Given the description of an element on the screen output the (x, y) to click on. 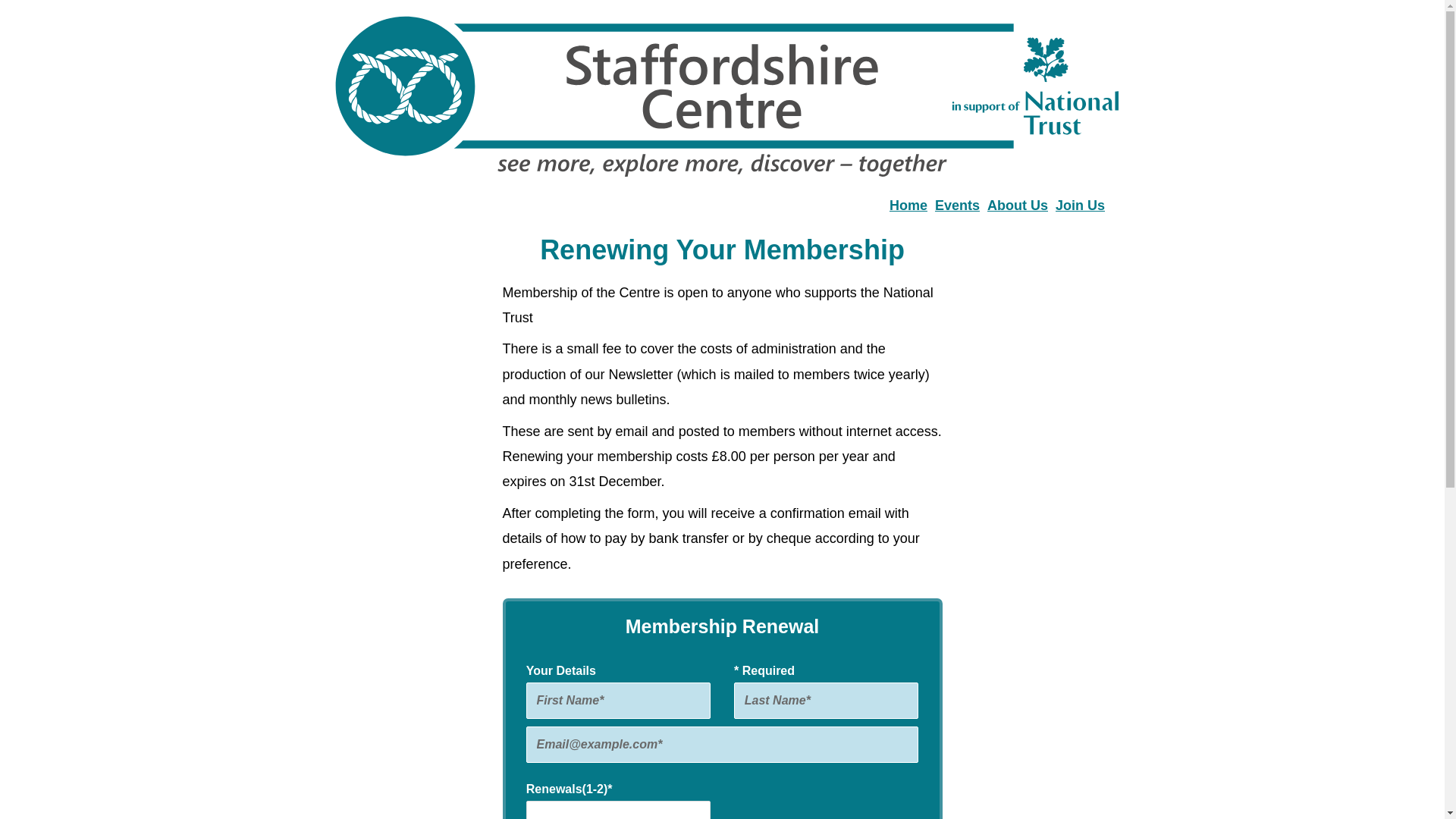
Home (908, 205)
About Us (1017, 205)
Events (956, 205)
Join Us (1080, 205)
